Given the description of an element on the screen output the (x, y) to click on. 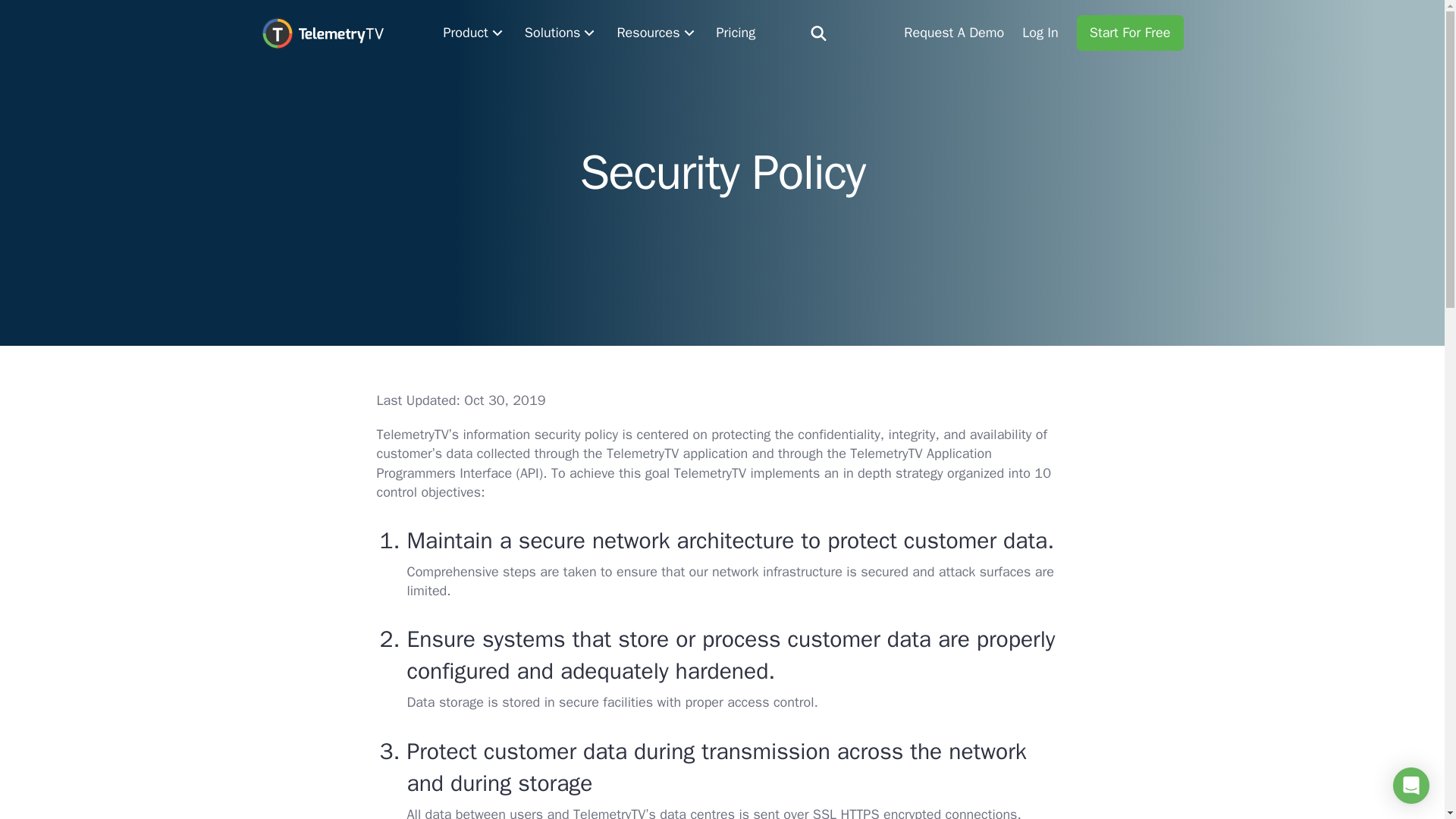
Log In (1040, 32)
Move to homepage (321, 32)
Request A Demo (954, 32)
Start For Free (1130, 32)
Request A Demo (954, 32)
Pricing (735, 32)
